Given the description of an element on the screen output the (x, y) to click on. 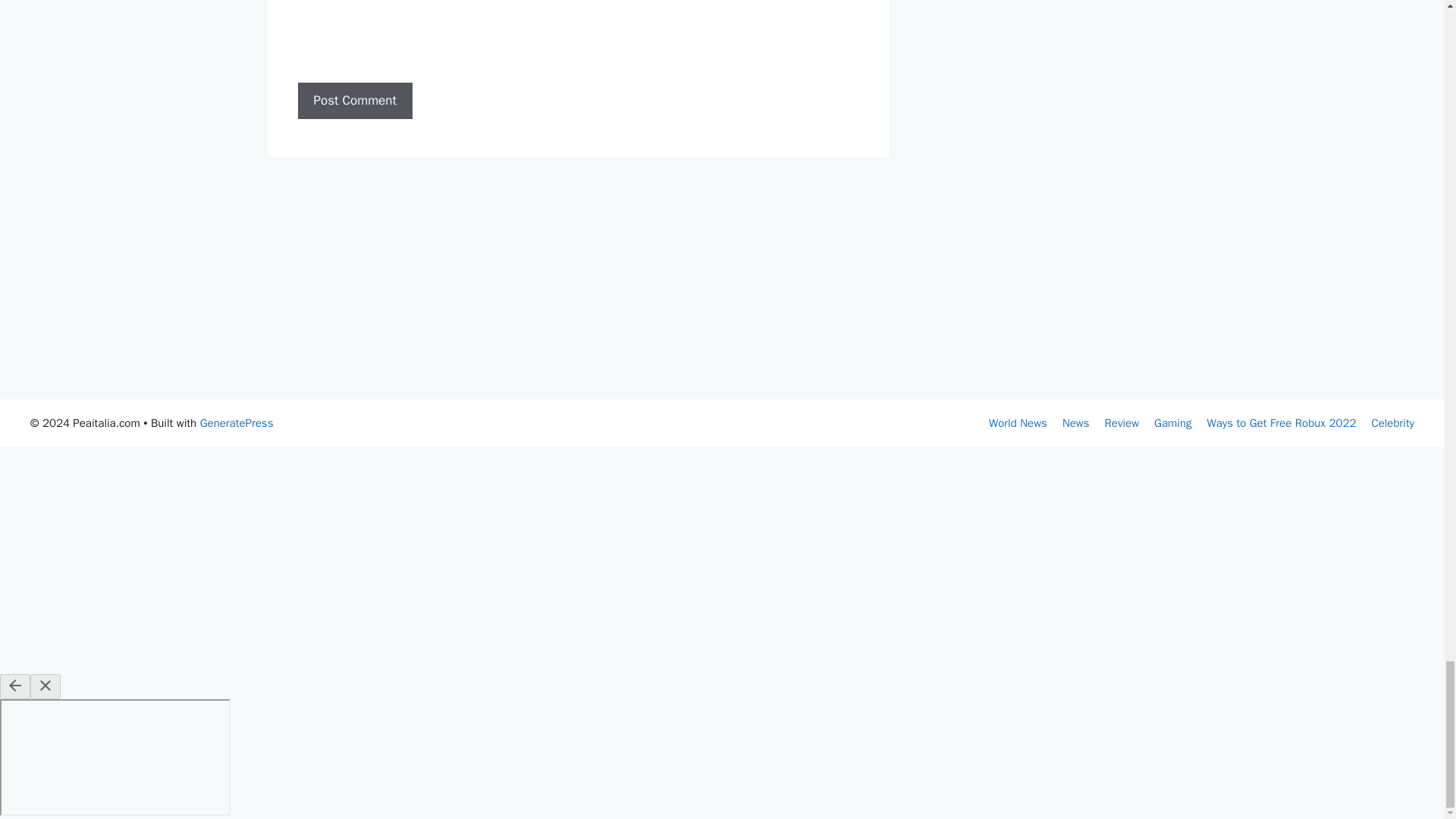
World News (1017, 422)
News (1075, 422)
Gaming (1172, 422)
GeneratePress (236, 422)
Ways to Get Free Robux 2022 (1281, 422)
Celebrity (1392, 422)
Post Comment (354, 100)
Post Comment (354, 100)
Review (1122, 422)
